Given the description of an element on the screen output the (x, y) to click on. 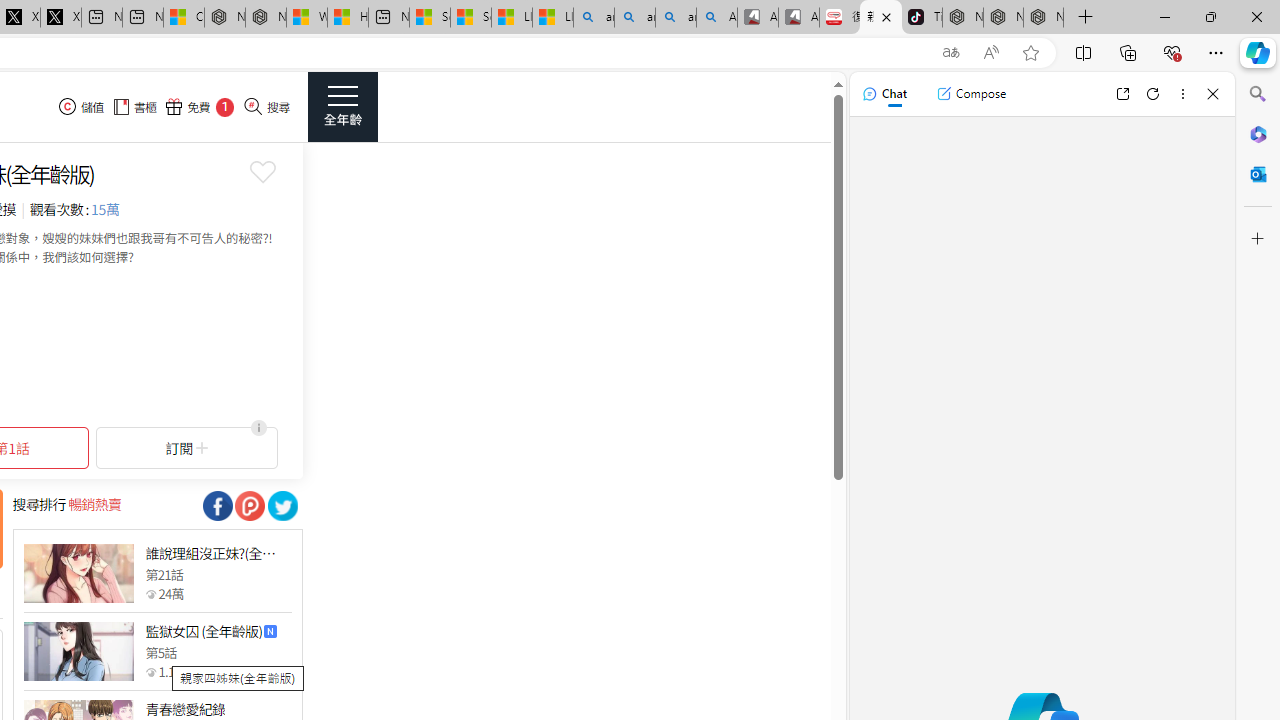
Nordace - Summer Adventures 2024 (265, 17)
Huge shark washes ashore at New York City beach | Watch (347, 17)
amazon - Search Images (675, 17)
Compose (971, 93)
Outlook (1258, 174)
Nordace - Best Sellers (963, 17)
Wildlife - MSN (306, 17)
Show translate options (950, 53)
